Given the description of an element on the screen output the (x, y) to click on. 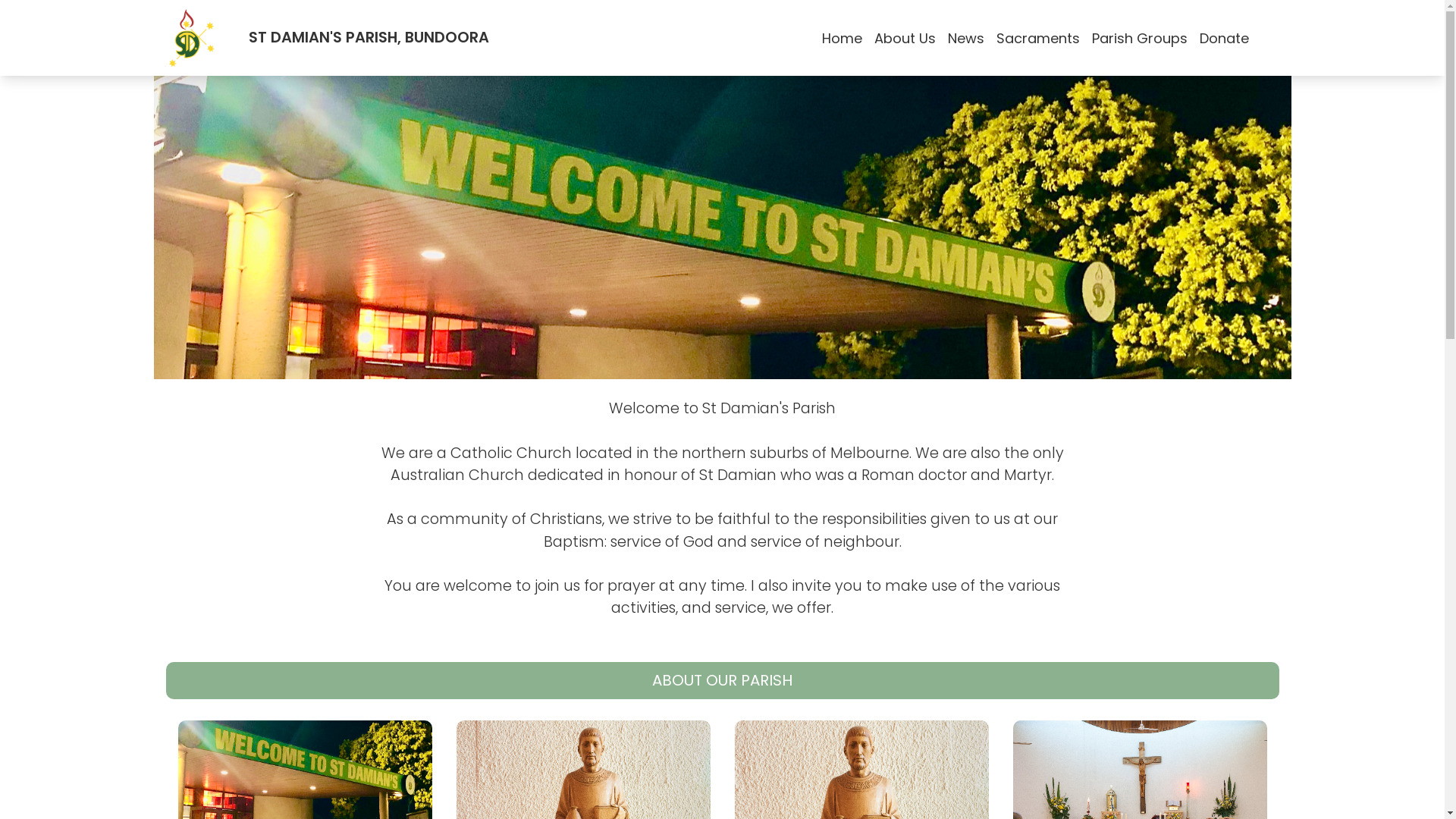
About Us Element type: text (904, 37)
Home Element type: text (841, 37)
Sacraments Element type: text (1037, 37)
Parish Groups Element type: text (1139, 37)
News Element type: text (965, 37)
Donate Element type: text (1224, 37)
